Given the description of an element on the screen output the (x, y) to click on. 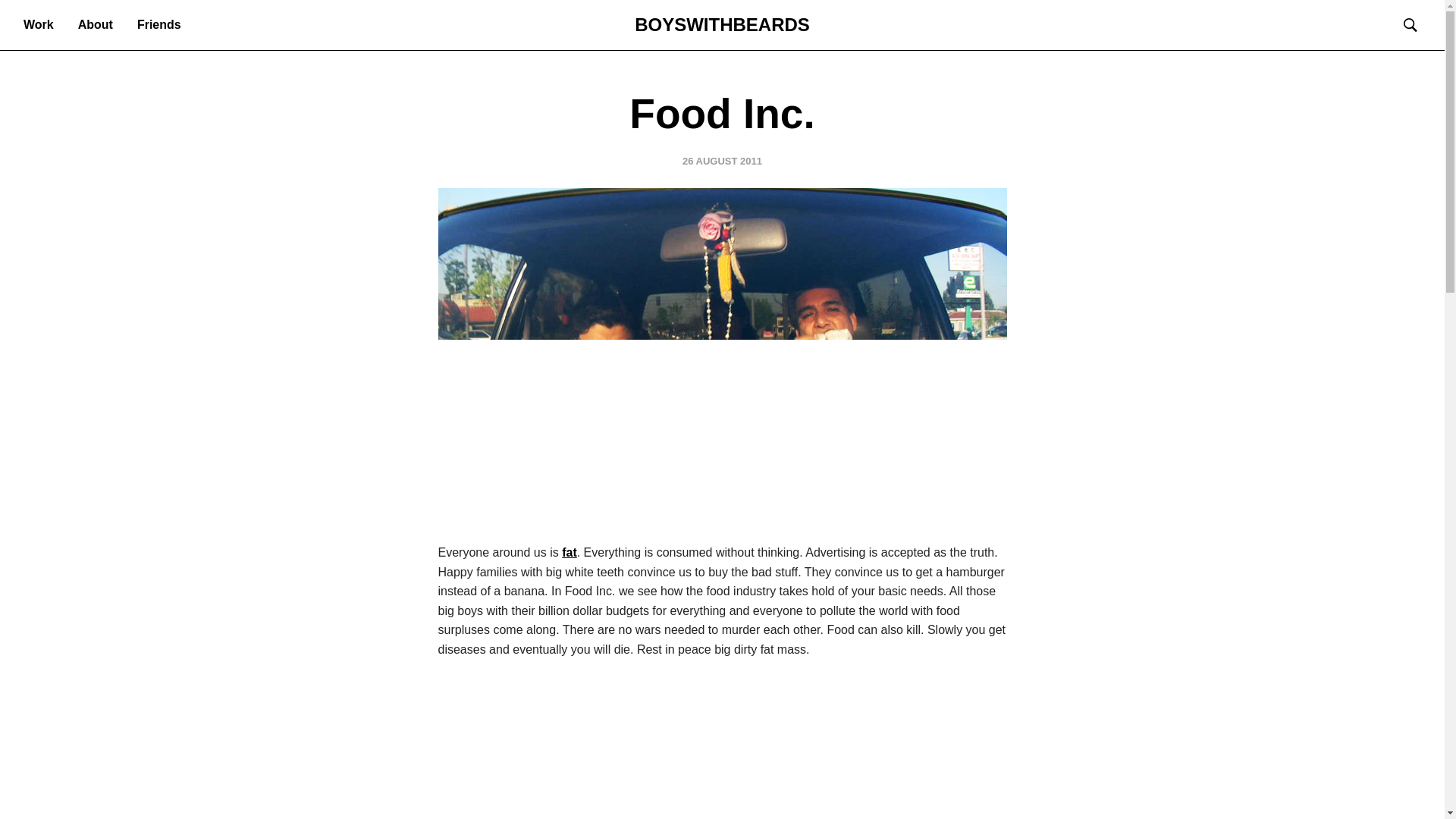
Permalink to Food Inc. (721, 161)
YouTube video player (722, 751)
About (95, 24)
26 AUGUST 2011 (721, 161)
fat (569, 552)
Work (39, 24)
BOYSWITHBEARDS (722, 24)
Friends (159, 24)
Search (45, 18)
